Given the description of an element on the screen output the (x, y) to click on. 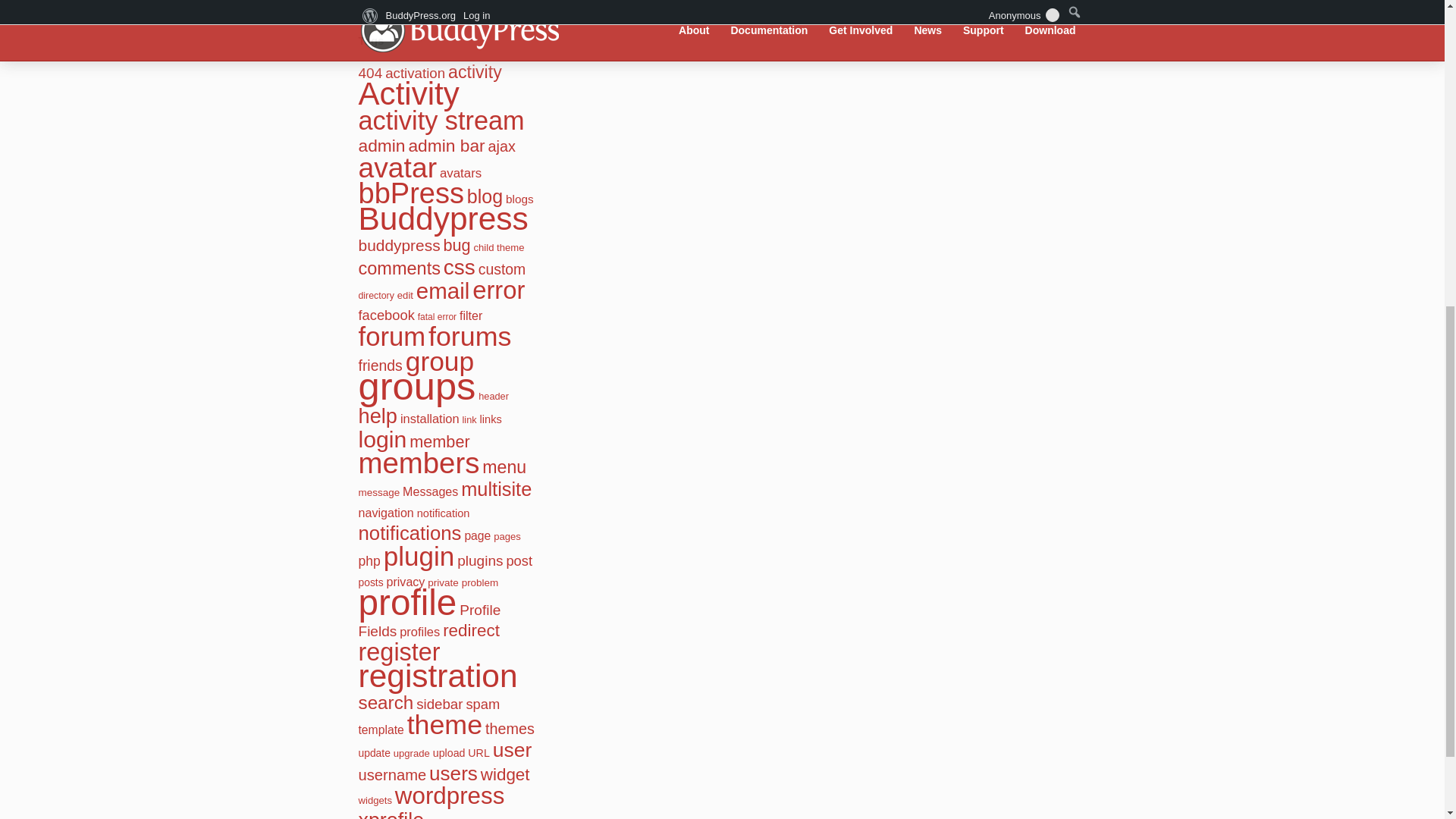
activation (415, 73)
All Recent Topics (414, 4)
blog (484, 196)
bbPress (410, 193)
admin bar (445, 145)
ajax (501, 146)
avatars (460, 173)
Activity (408, 93)
admin (381, 145)
avatar (397, 167)
